Given the description of an element on the screen output the (x, y) to click on. 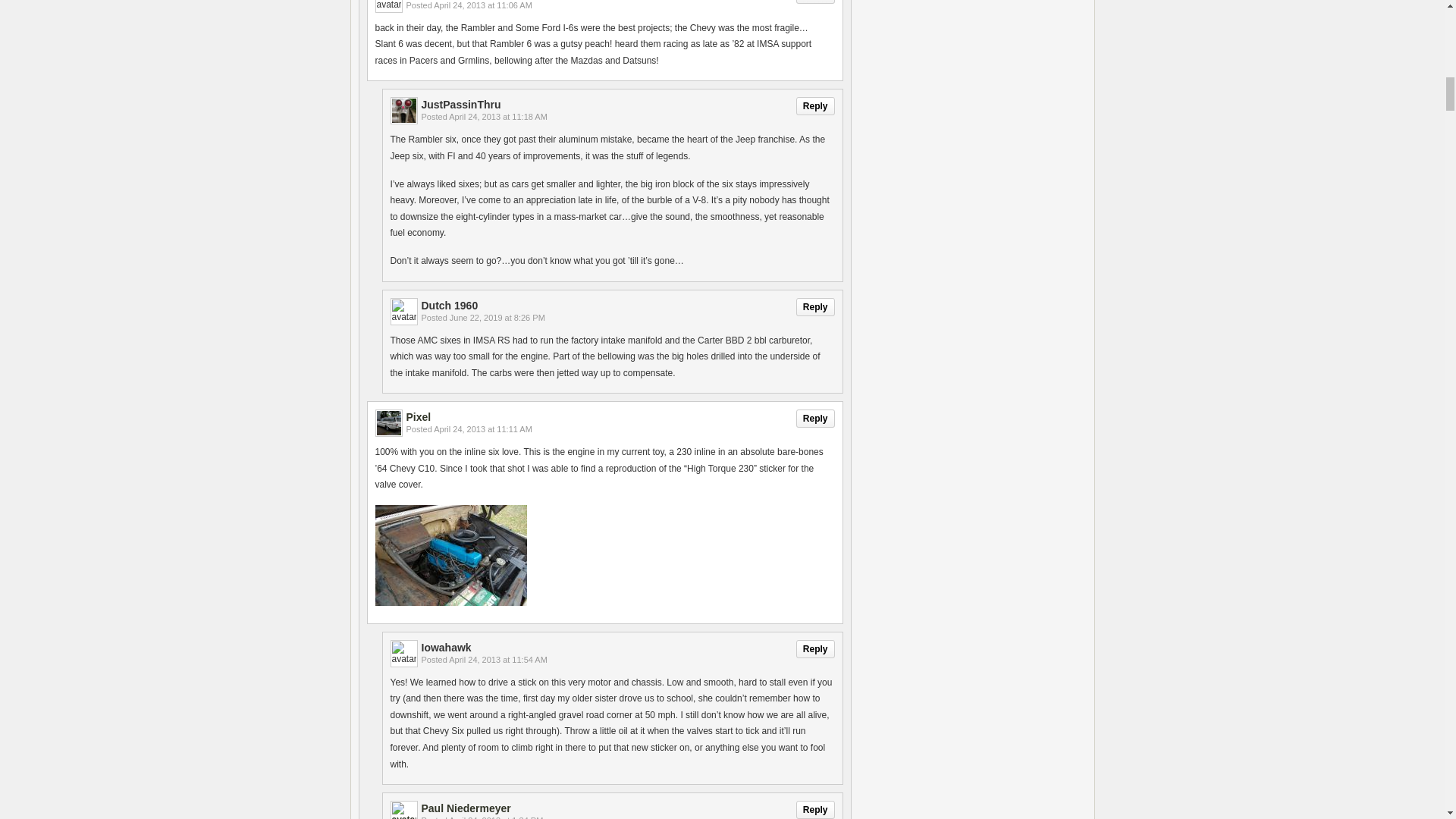
2013-04-24T11:54:22-07:00 (497, 659)
2013-04-24T11:06:08-07:00 (482, 4)
2013-04-24T11:11:01-07:00 (482, 429)
2013-04-24T13:34:32-07:00 (495, 817)
2019-06-22T20:26:44-07:00 (496, 317)
2013-04-24T11:18:22-07:00 (497, 116)
